Given the description of an element on the screen output the (x, y) to click on. 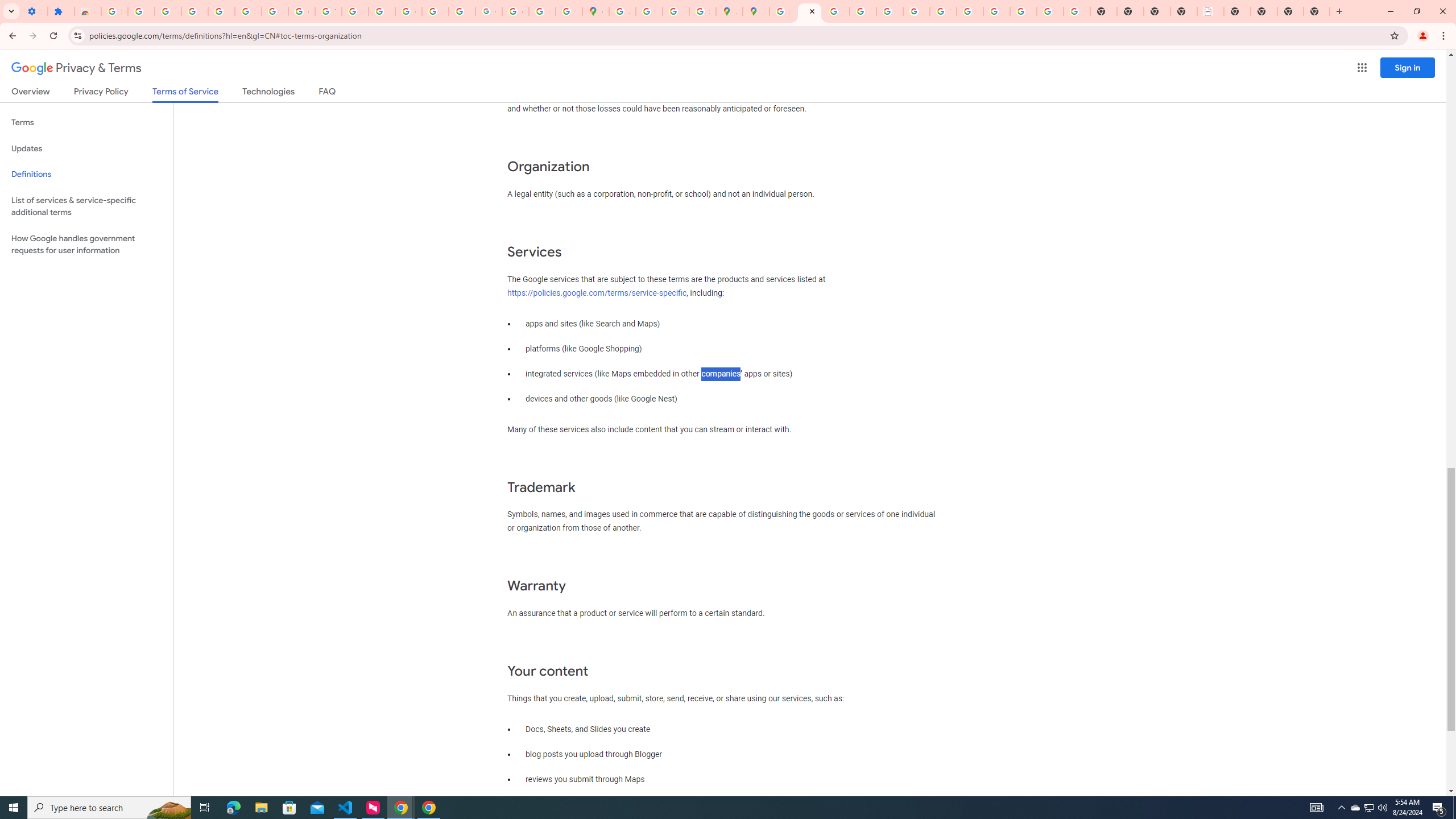
Updates (86, 148)
YouTube (328, 11)
Google Account (301, 11)
New Tab (1236, 11)
Google apps (1362, 67)
How Google handles government requests for user information (86, 244)
